Given the description of an element on the screen output the (x, y) to click on. 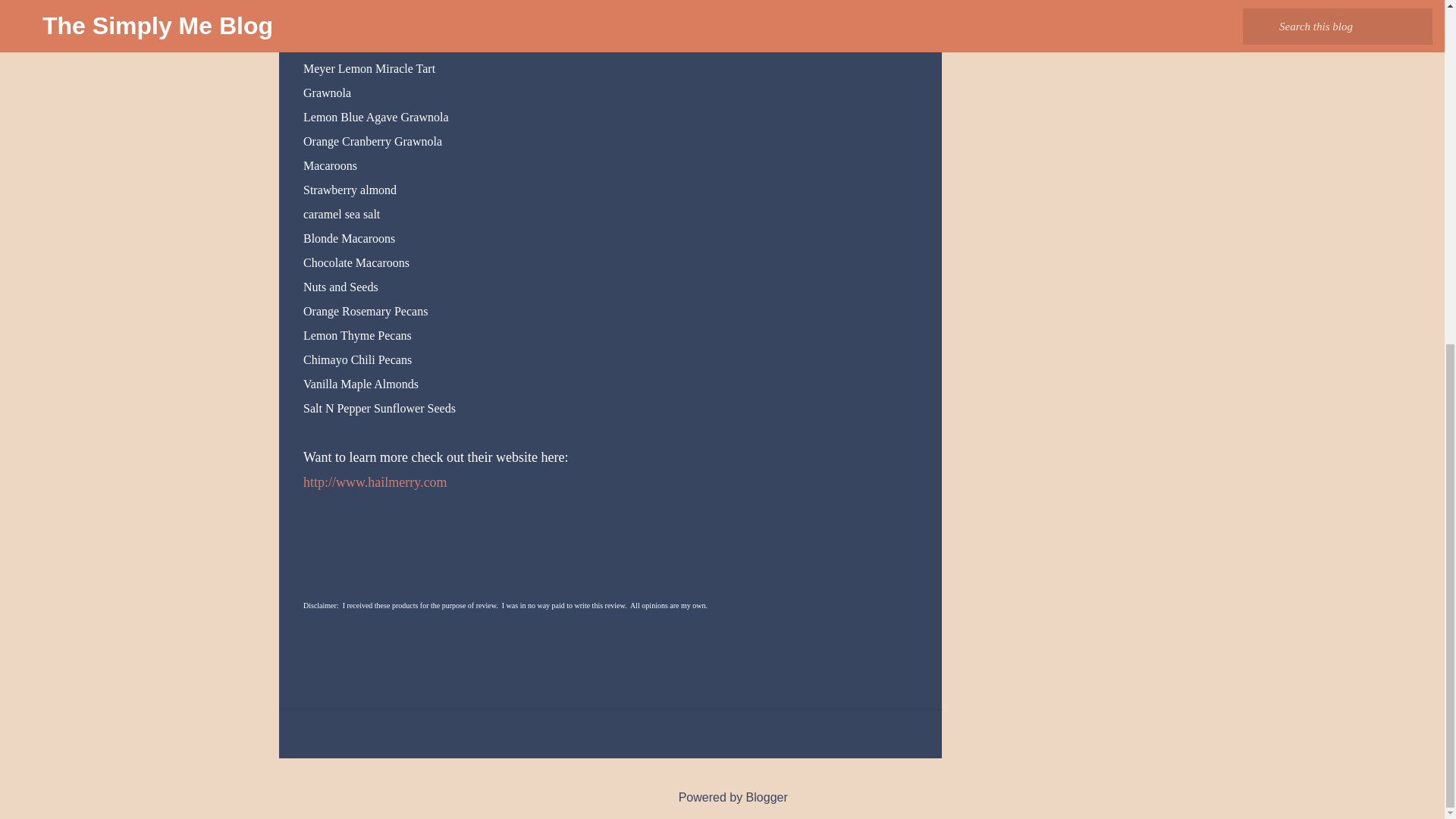
Powered by Blogger (721, 797)
